Given the description of an element on the screen output the (x, y) to click on. 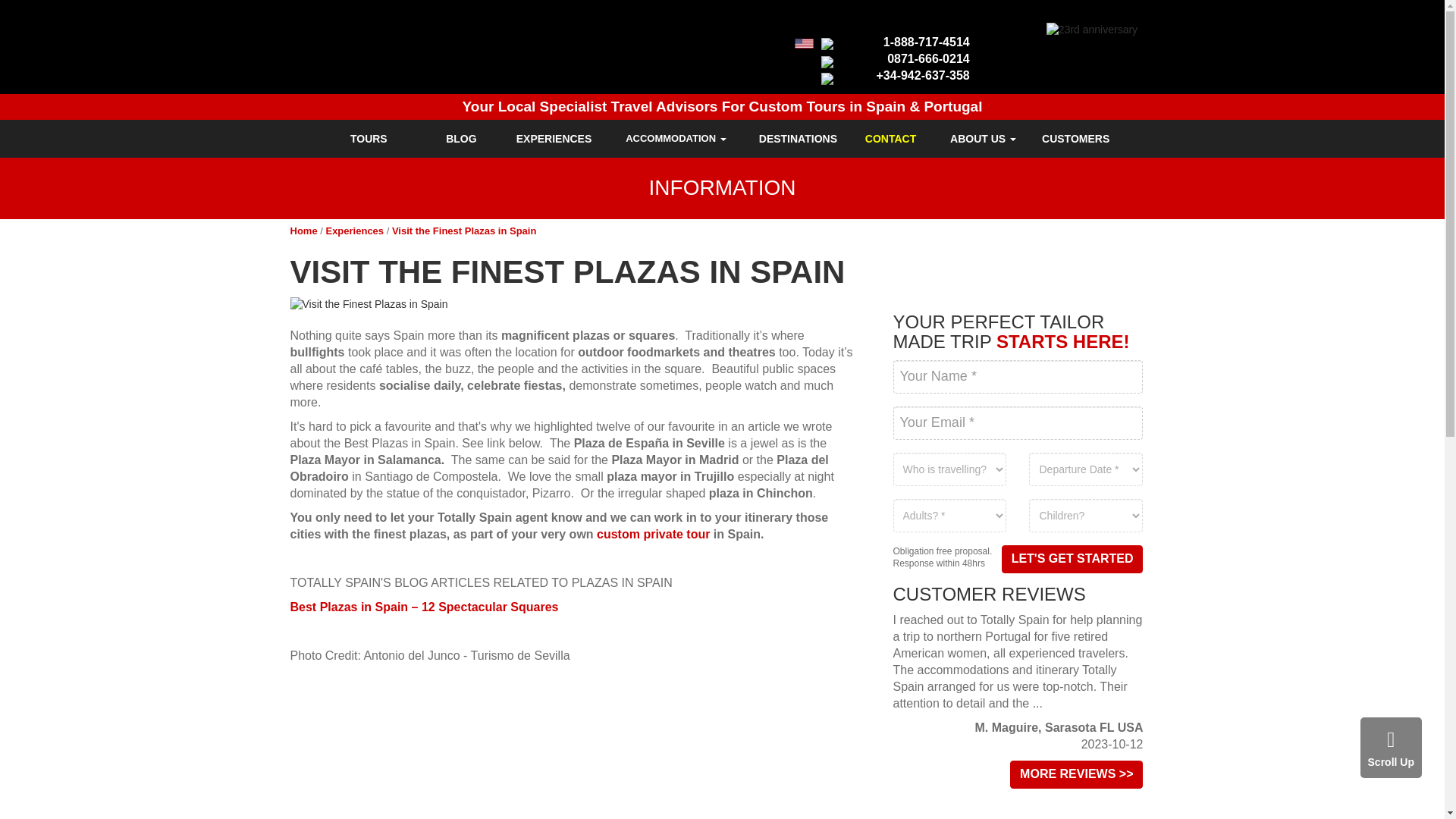
DESTINATIONS (797, 138)
Visit the Finest Plazas in Spain (463, 230)
Visit the Finest Plazas in Spain (574, 304)
1-888-717-4514 (926, 42)
23rd anniversary (1091, 29)
Scroll Up (1390, 747)
LET'S GET STARTED (1071, 559)
CUSTOMERS (1075, 138)
ABOUT US (983, 138)
BLOG (460, 138)
ACCOMMODATION (675, 138)
TOURS (367, 138)
CONTACT (890, 138)
0871-666-0214 (927, 58)
Home (303, 230)
